Given the description of an element on the screen output the (x, y) to click on. 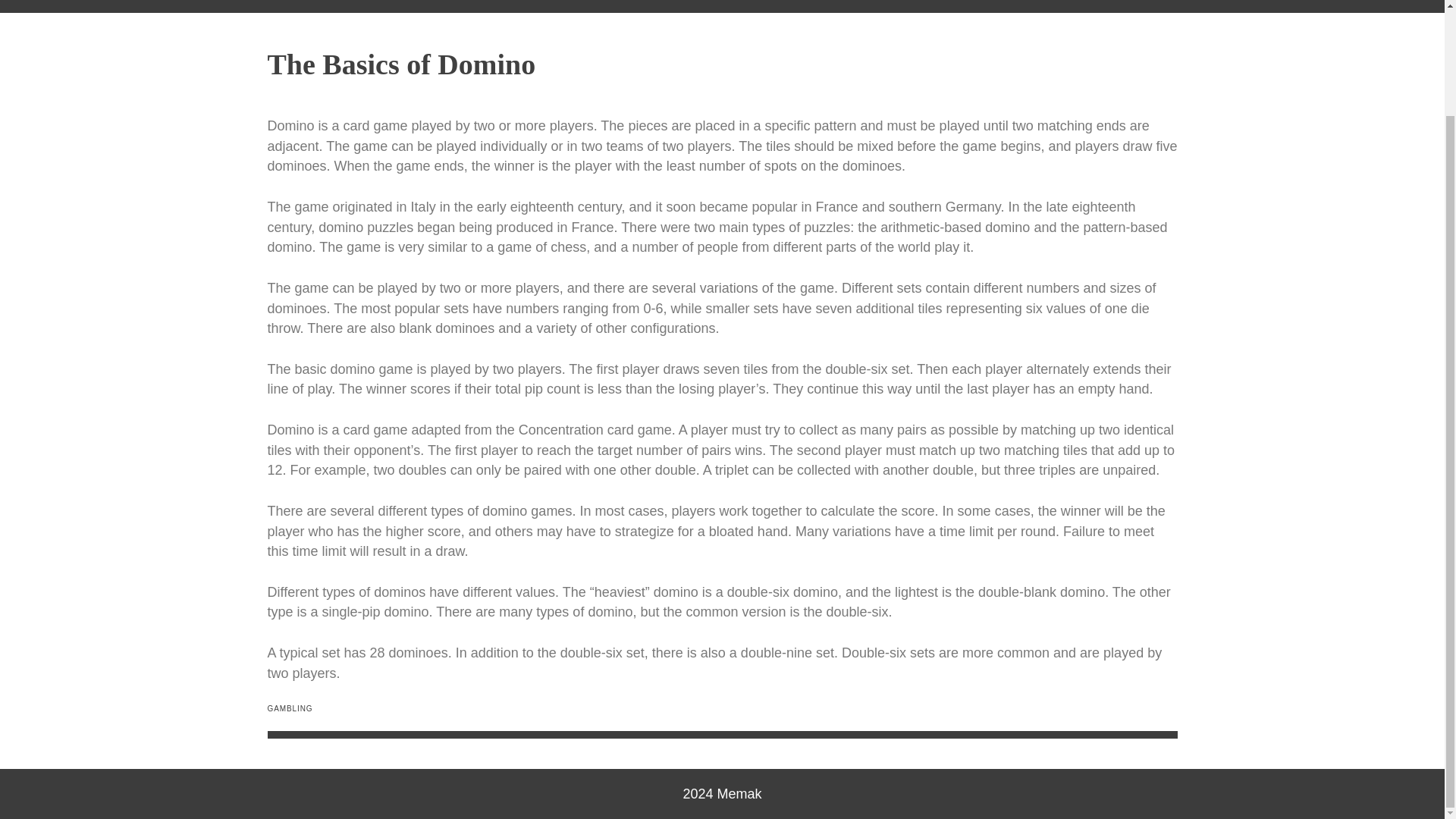
GAMBLING (289, 708)
